Given the description of an element on the screen output the (x, y) to click on. 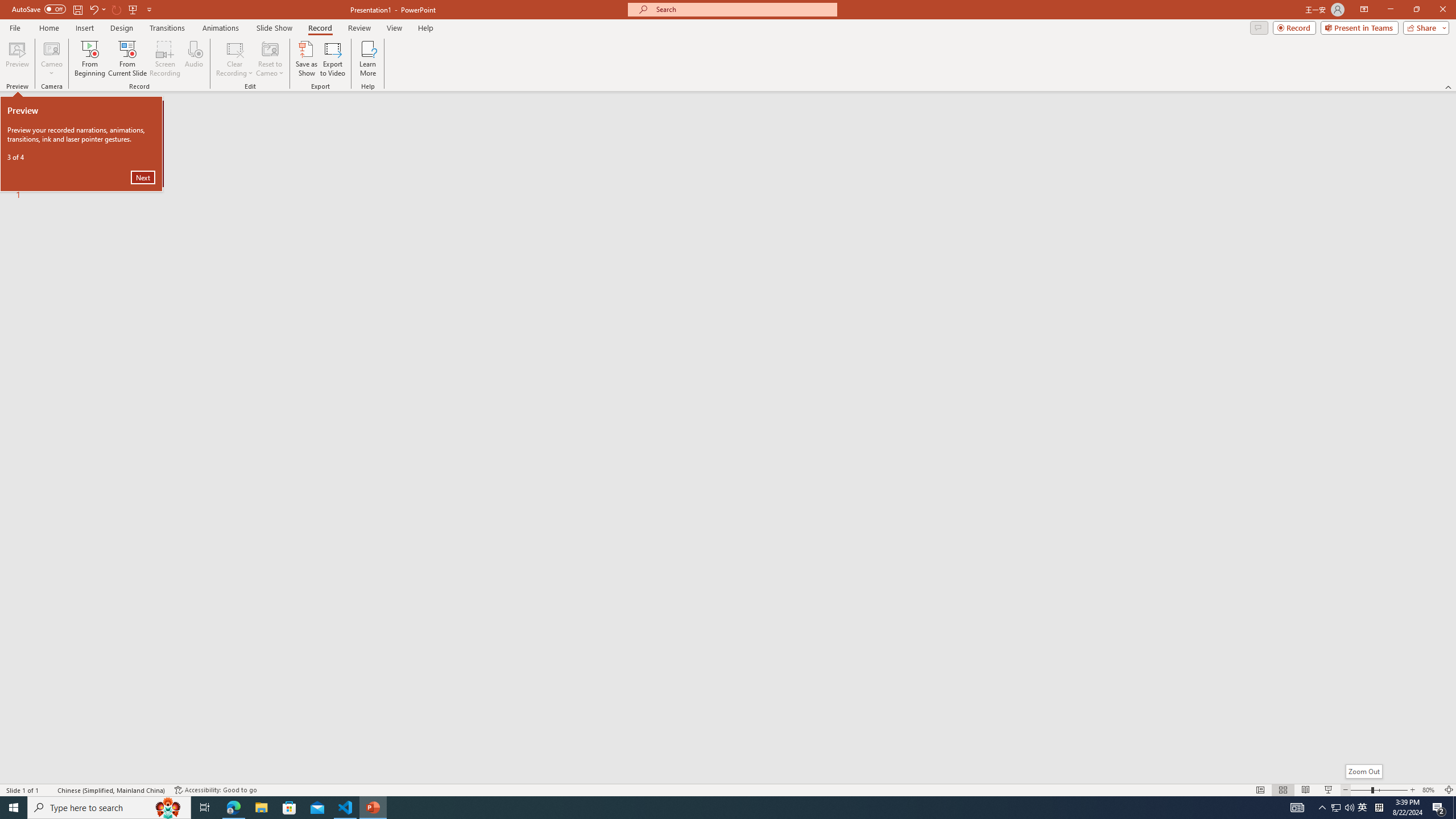
Spell Check  (49, 790)
Screen Recording (165, 58)
From Current Slide... (127, 58)
Save as Show (306, 58)
